Given the description of an element on the screen output the (x, y) to click on. 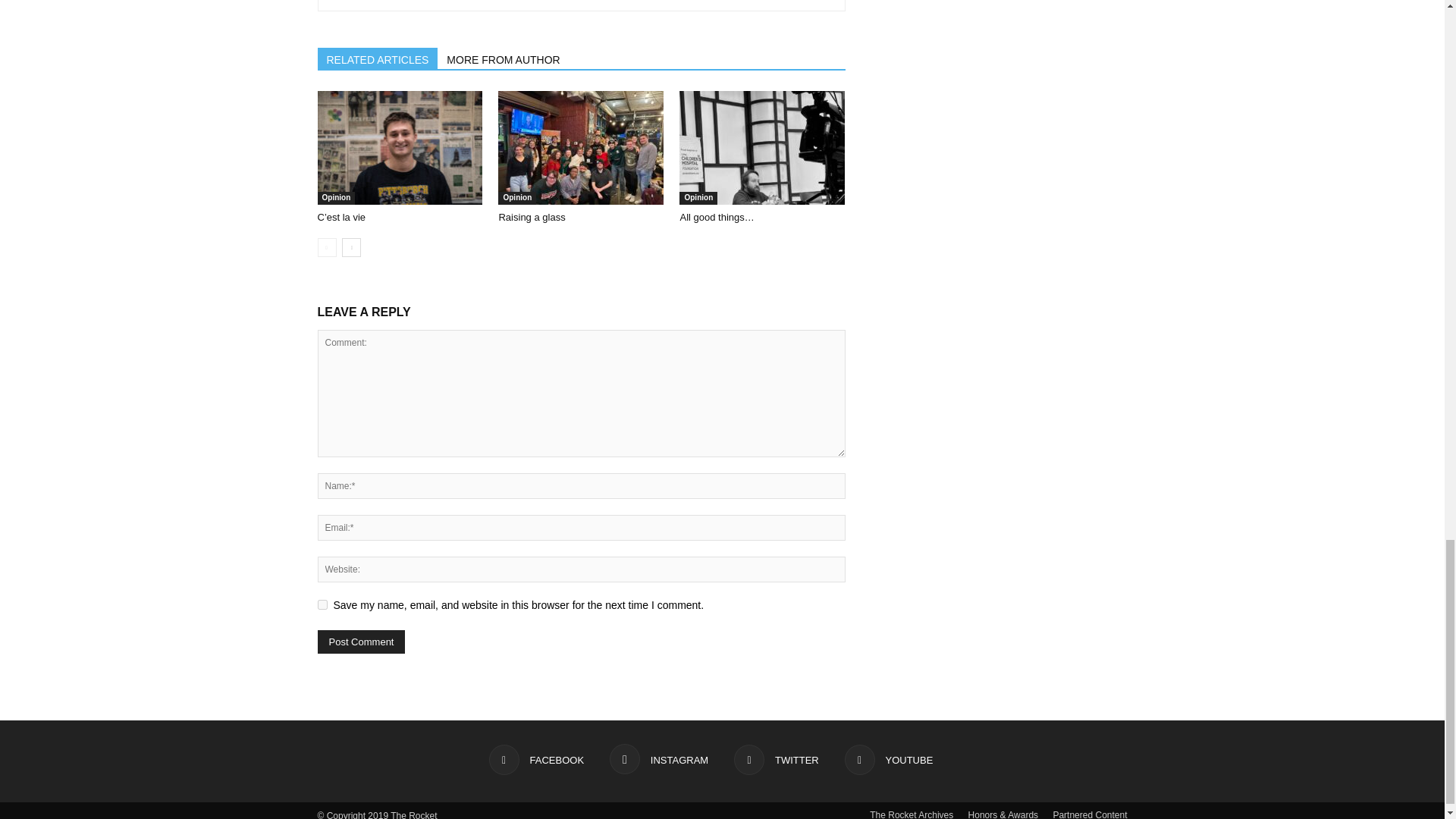
Raising a glass (530, 216)
Post Comment (360, 641)
yes (321, 604)
Raising a glass (580, 147)
